Given the description of an element on the screen output the (x, y) to click on. 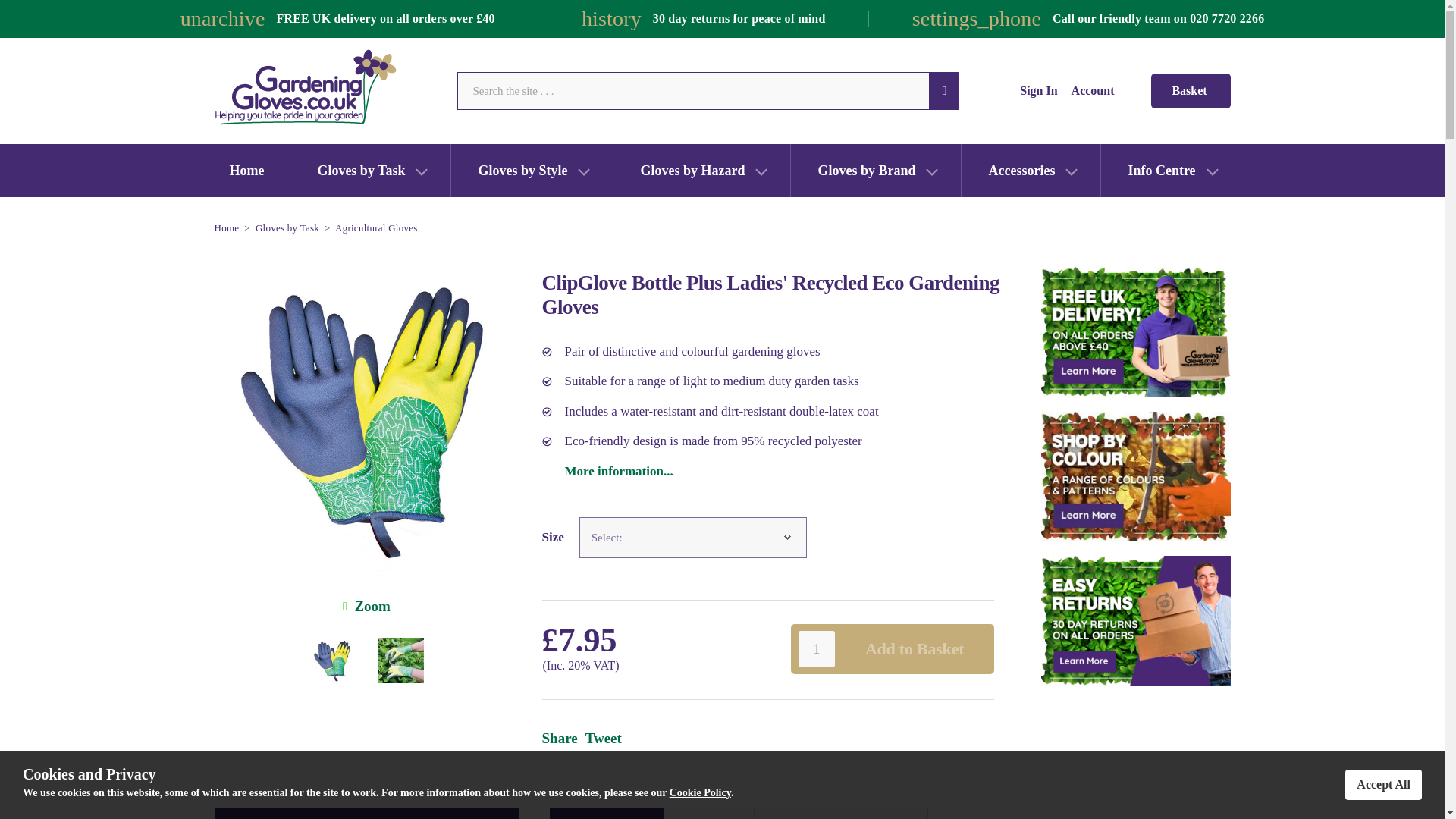
Shop gardening gloves by colour (1135, 476)
Add to Basket (914, 649)
Home (226, 227)
1 (815, 648)
Gloves by Task (287, 227)
Tweet (603, 738)
Zoom (366, 418)
See Our Returns Policy (1135, 620)
ClipGlove Bottle Plus Ladies' Recycled Eco Gardening Gloves (371, 606)
Share (558, 738)
